Given the description of an element on the screen output the (x, y) to click on. 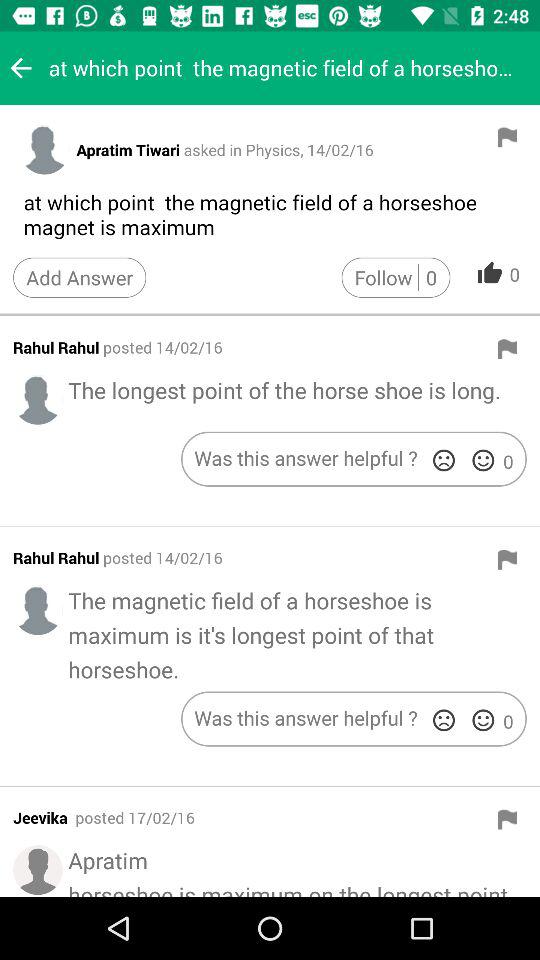
view profile (38, 399)
